Given the description of an element on the screen output the (x, y) to click on. 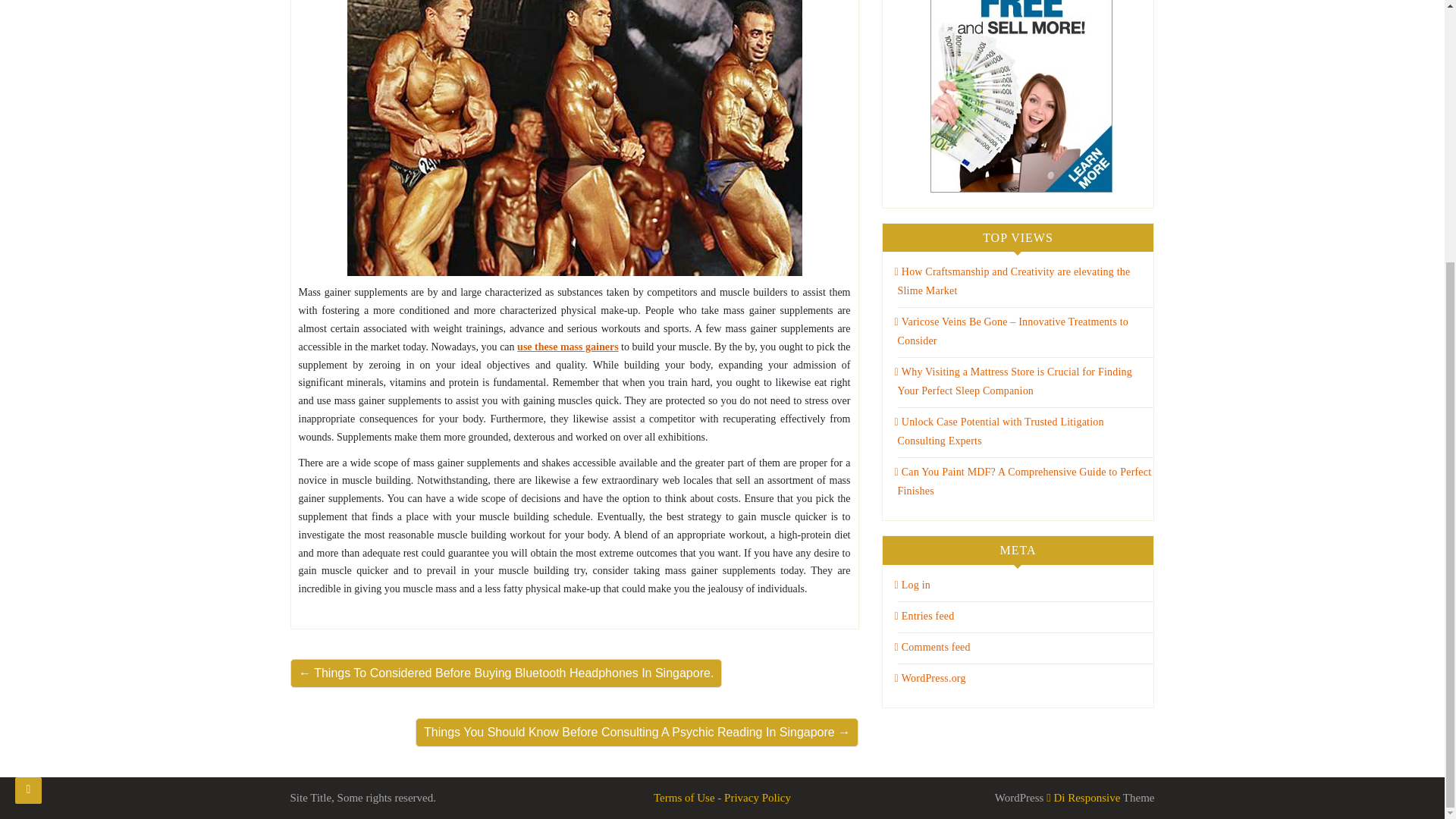
Entries feed (925, 615)
Log in (912, 584)
Di Responsive (1082, 797)
Can You Paint MDF? A Comprehensive Guide to Perfect Finishes (1023, 481)
use these mass gainers (566, 346)
WordPress.org (930, 677)
Comments feed (933, 646)
Terms of Use - Privacy Policy (721, 797)
